Given the description of an element on the screen output the (x, y) to click on. 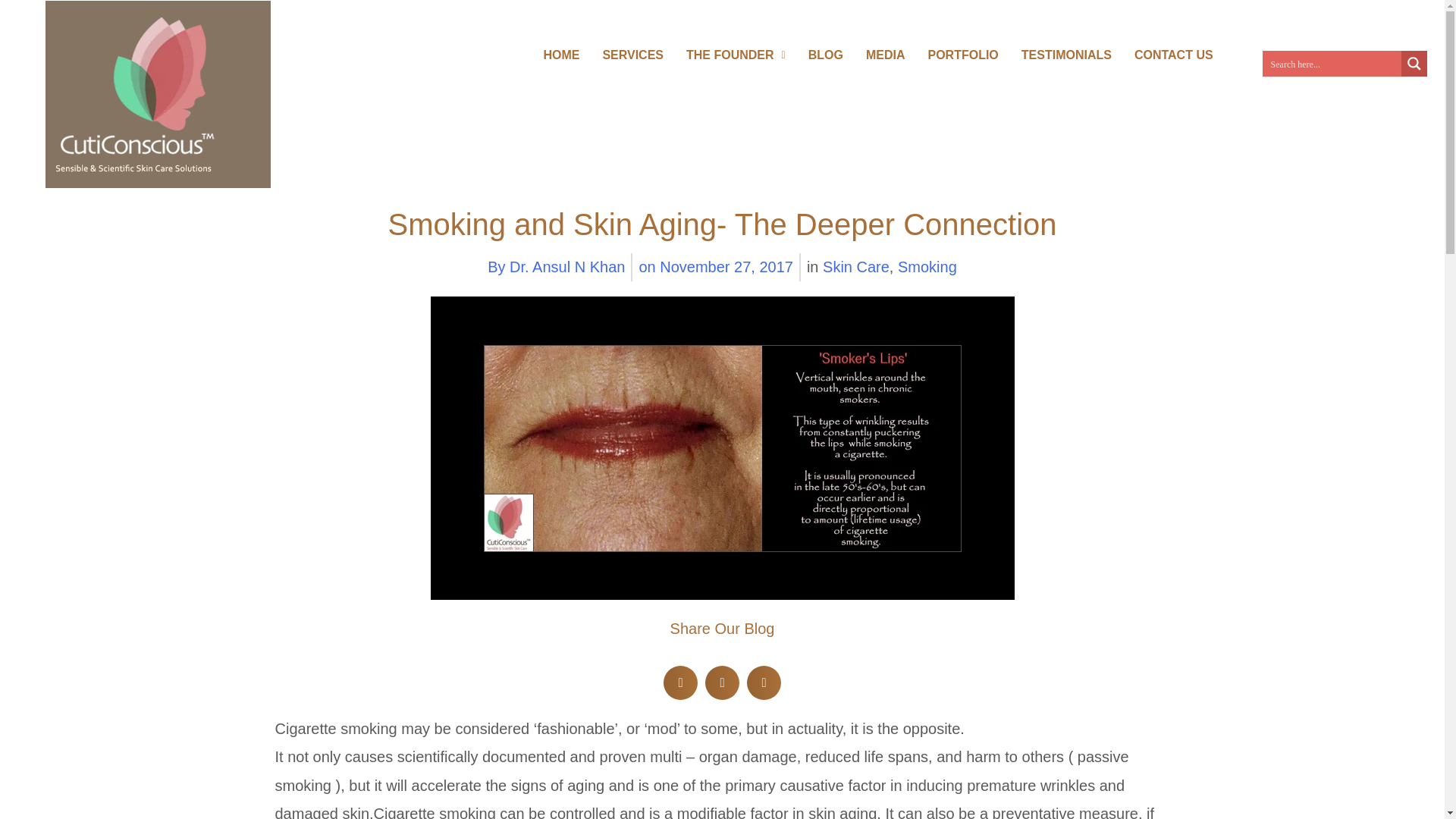
Skin Care (855, 266)
CONTACT US (1173, 54)
PORTFOLIO (962, 54)
BLOG (825, 54)
TESTIMONIALS (1066, 54)
THE FOUNDER (735, 54)
HOME (561, 54)
SERVICES (633, 54)
Smoking (927, 266)
on November 27, 2017 (715, 267)
MEDIA (885, 54)
By Dr. Ansul N Khan (555, 267)
